Given the description of an element on the screen output the (x, y) to click on. 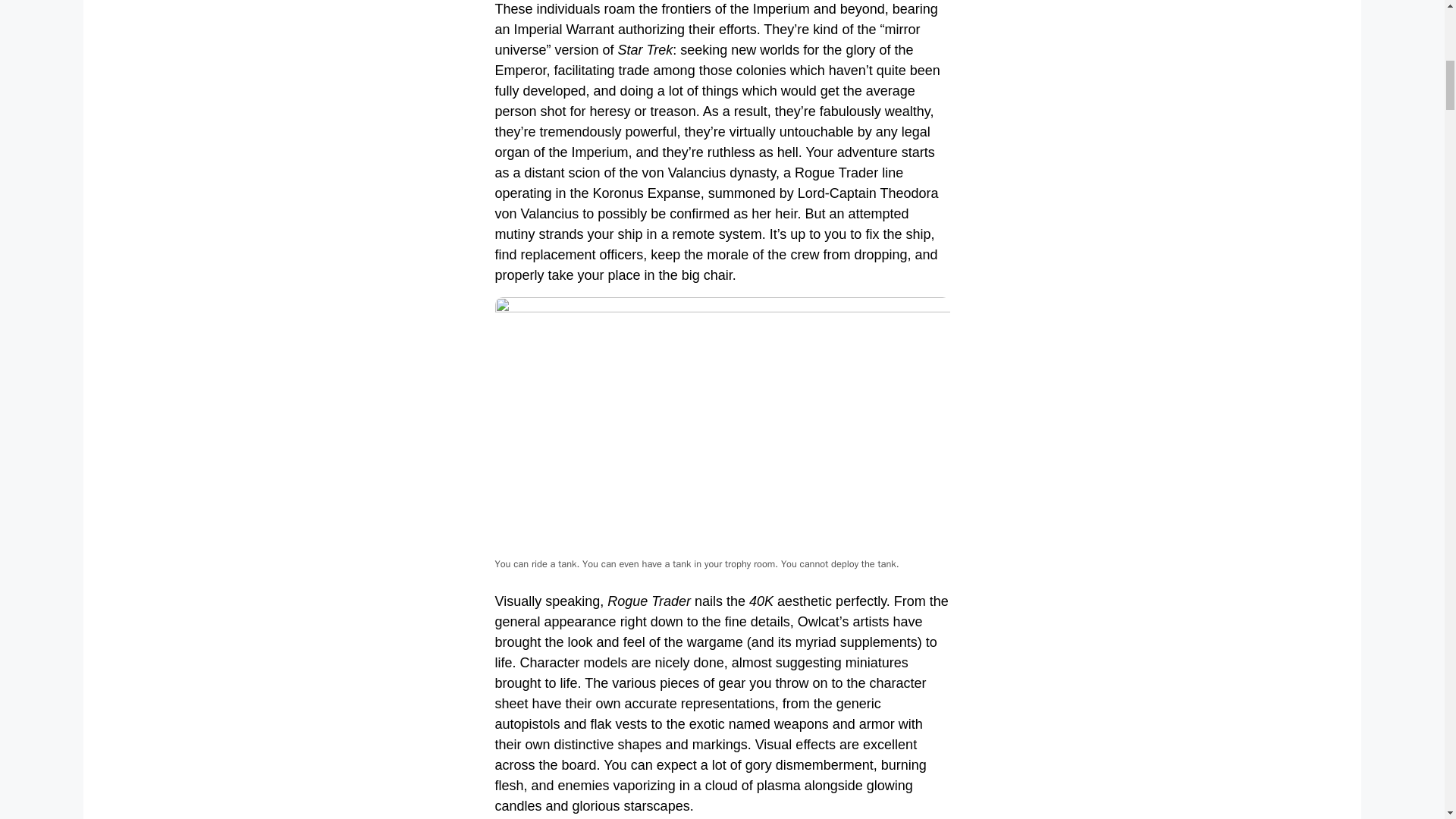
RogueTrader04 (722, 425)
